Given the description of an element on the screen output the (x, y) to click on. 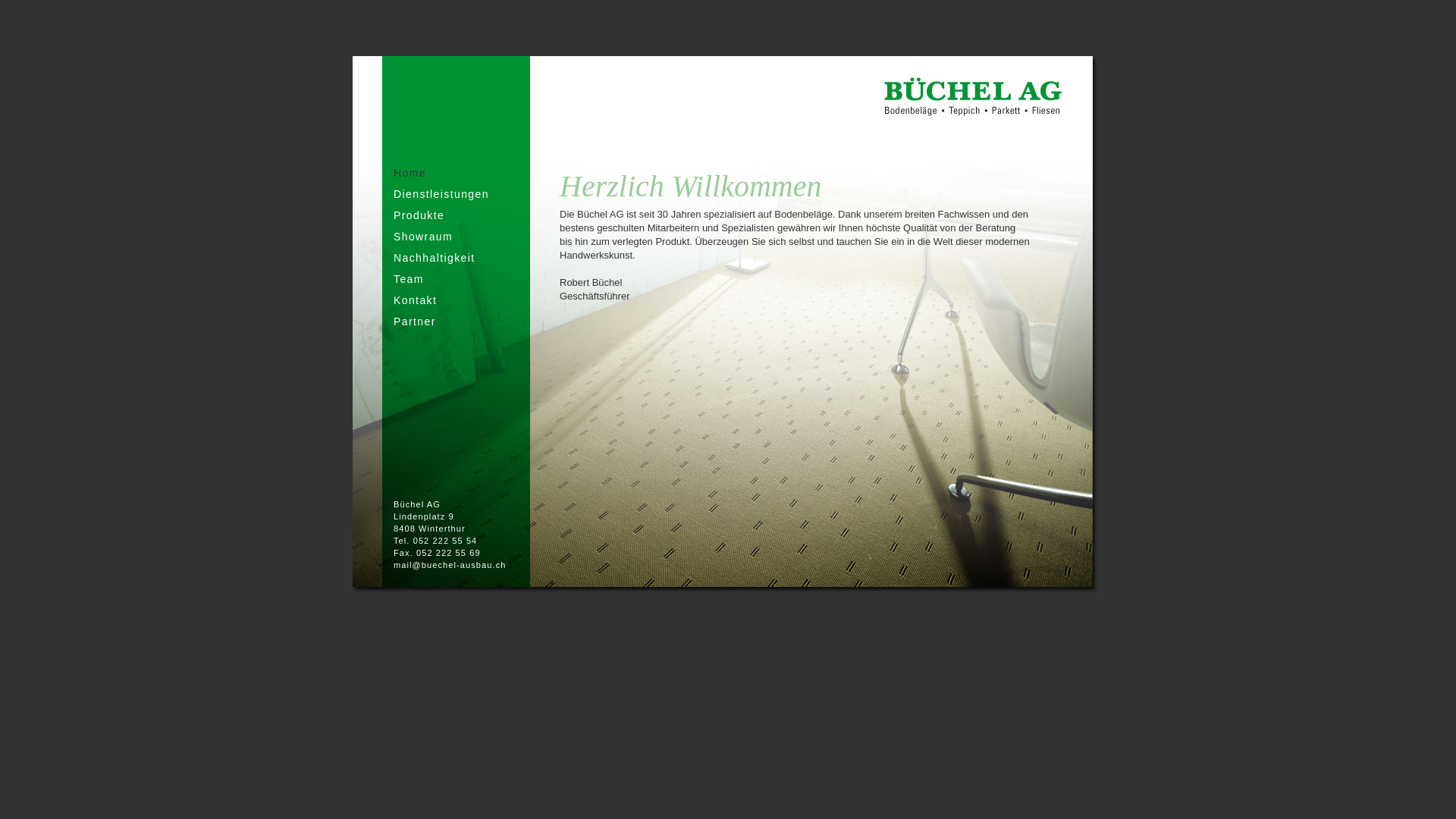
Partner Element type: text (414, 321)
Team Element type: text (408, 279)
Nachhaltigkeit Element type: text (434, 257)
Home Element type: text (409, 172)
Produkte Element type: text (418, 215)
Showraum Element type: text (422, 236)
Dienstleistungen Element type: text (441, 194)
Kontakt Element type: text (414, 300)
